Given the description of an element on the screen output the (x, y) to click on. 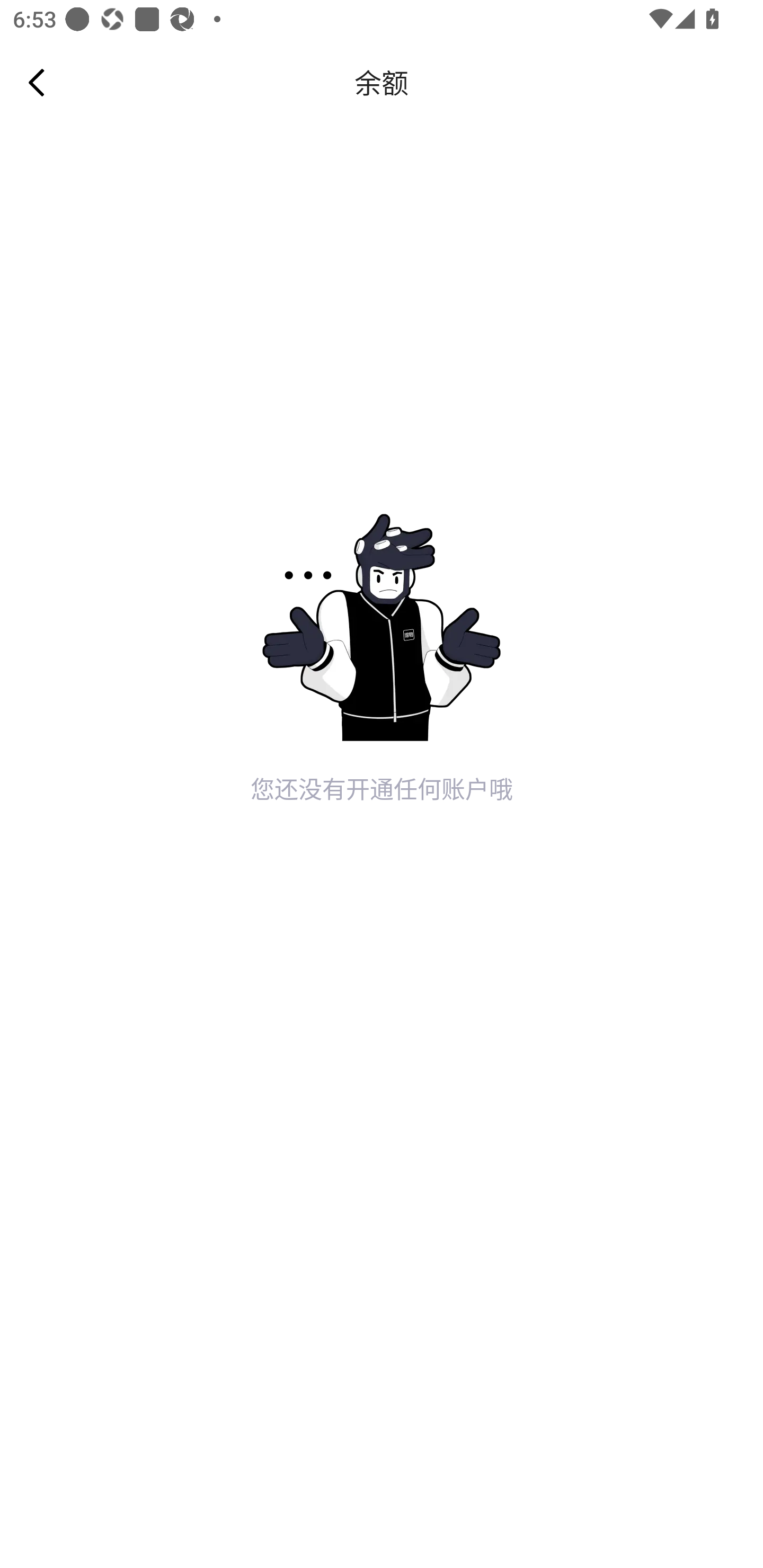
Navigate up (36, 82)
